Given the description of an element on the screen output the (x, y) to click on. 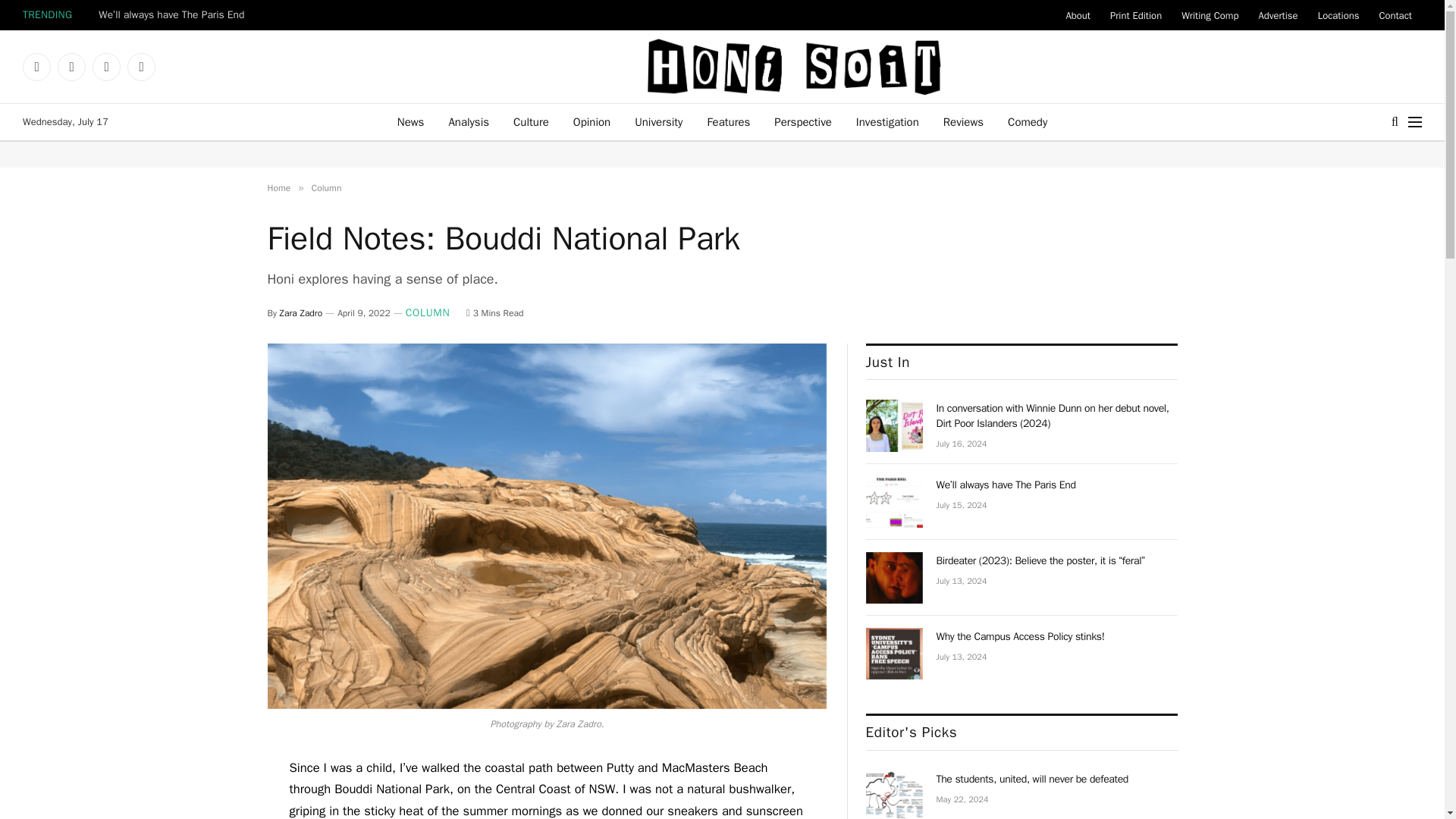
News (410, 122)
Contact (1395, 15)
Writing Comp (1209, 15)
TikTok (141, 67)
University (658, 122)
Analysis (467, 122)
Perspective (802, 122)
Print Edition (1136, 15)
Column (326, 187)
Culture (530, 122)
Locations (1338, 15)
About (1077, 15)
Posts by Zara Zadro (301, 313)
Facebook (36, 67)
